Given the description of an element on the screen output the (x, y) to click on. 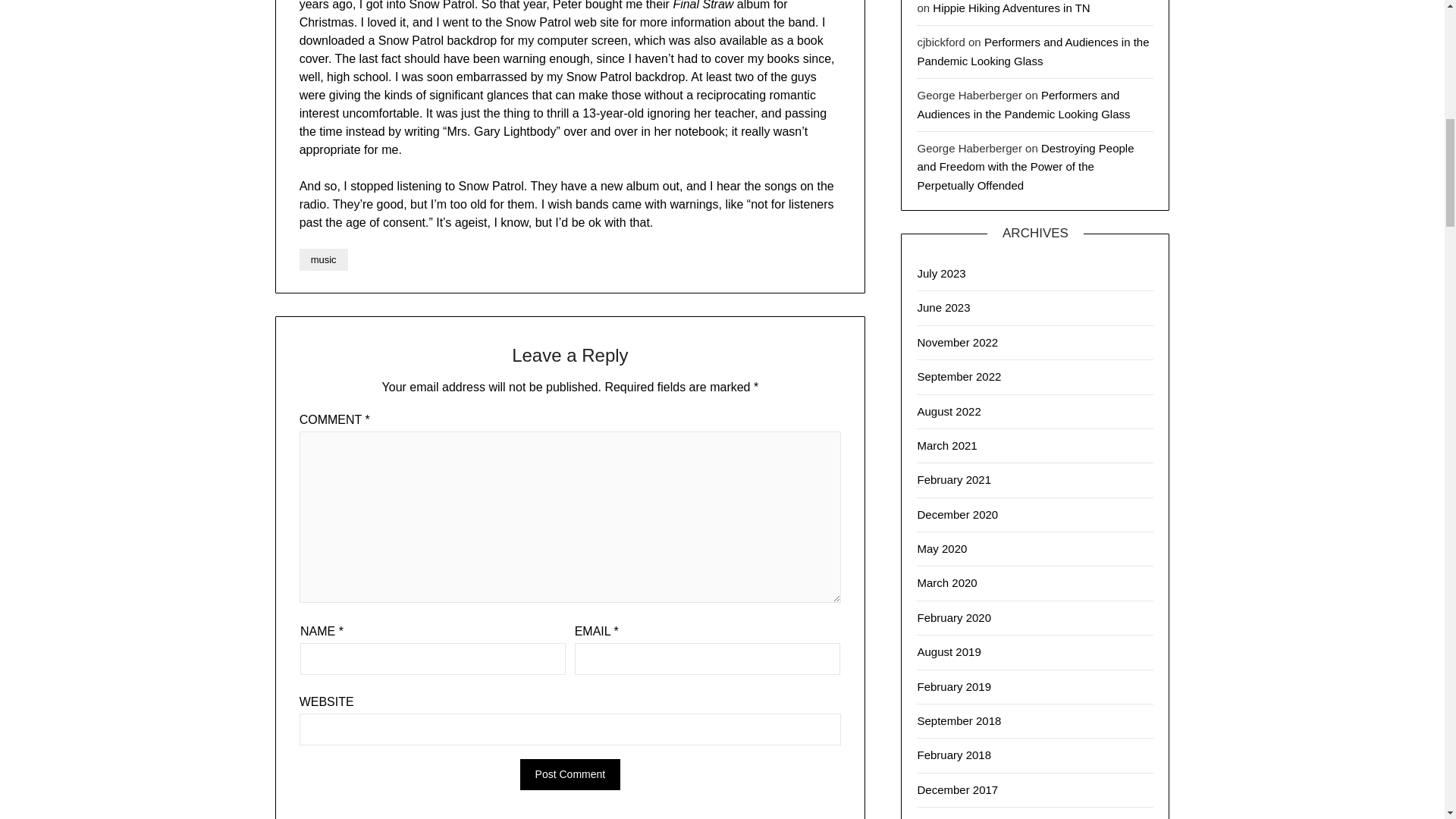
Performers and Audiences in the Pandemic Looking Glass (1023, 103)
August 2019 (948, 651)
music (323, 259)
Post Comment (570, 774)
August 2022 (948, 410)
February 2021 (954, 479)
September 2022 (959, 376)
Performers and Audiences in the Pandemic Looking Glass (1032, 51)
June 2023 (943, 307)
Post Comment (570, 774)
December 2020 (957, 513)
March 2021 (946, 445)
May 2020 (941, 548)
September 2018 (959, 720)
